Given the description of an element on the screen output the (x, y) to click on. 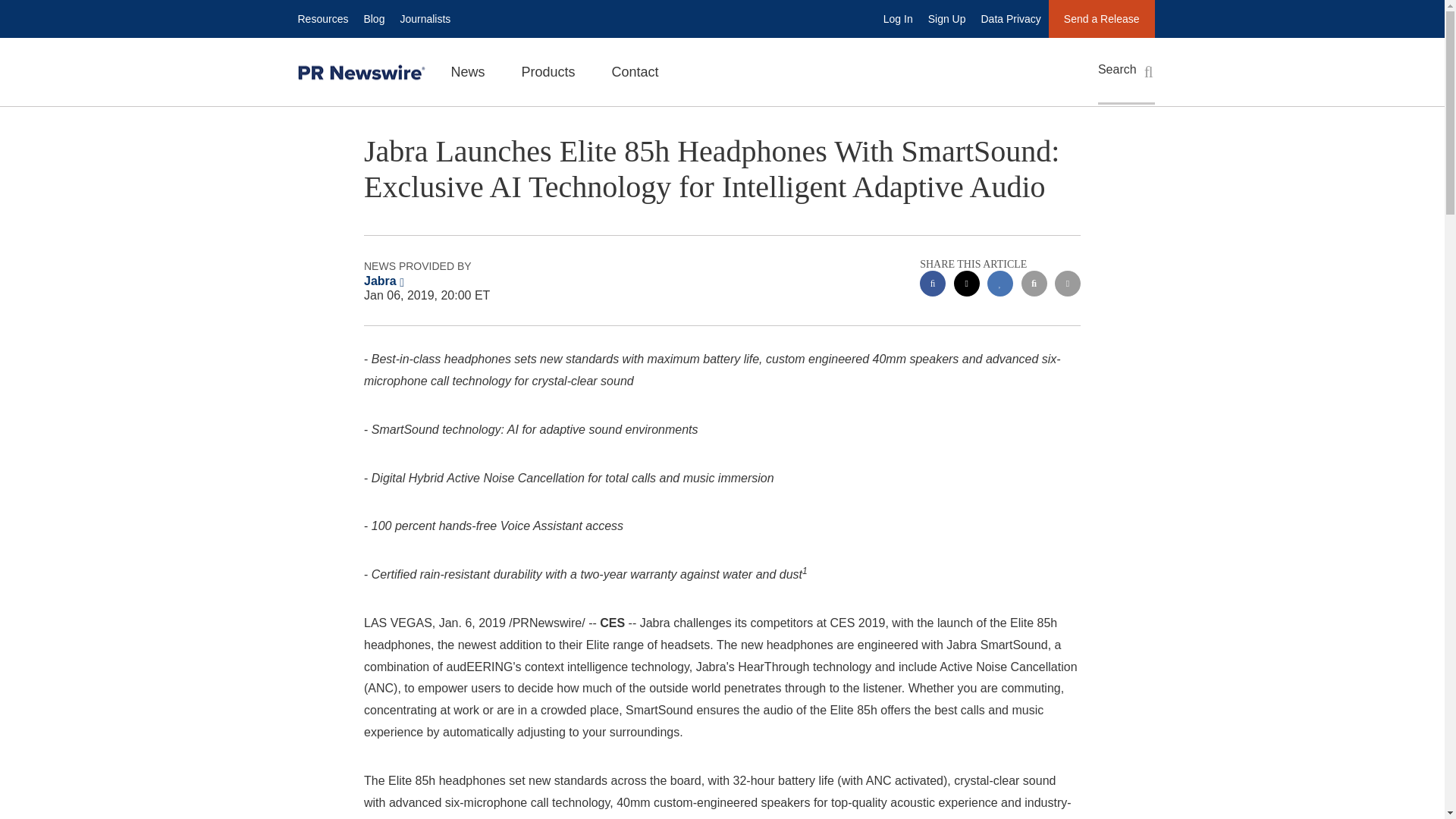
News (467, 71)
Log In (898, 18)
Journalists (424, 18)
Resources (322, 18)
Blog (373, 18)
Products (548, 71)
Sign Up (947, 18)
Data Privacy (1011, 18)
Send a Release (1101, 18)
